Given the description of an element on the screen output the (x, y) to click on. 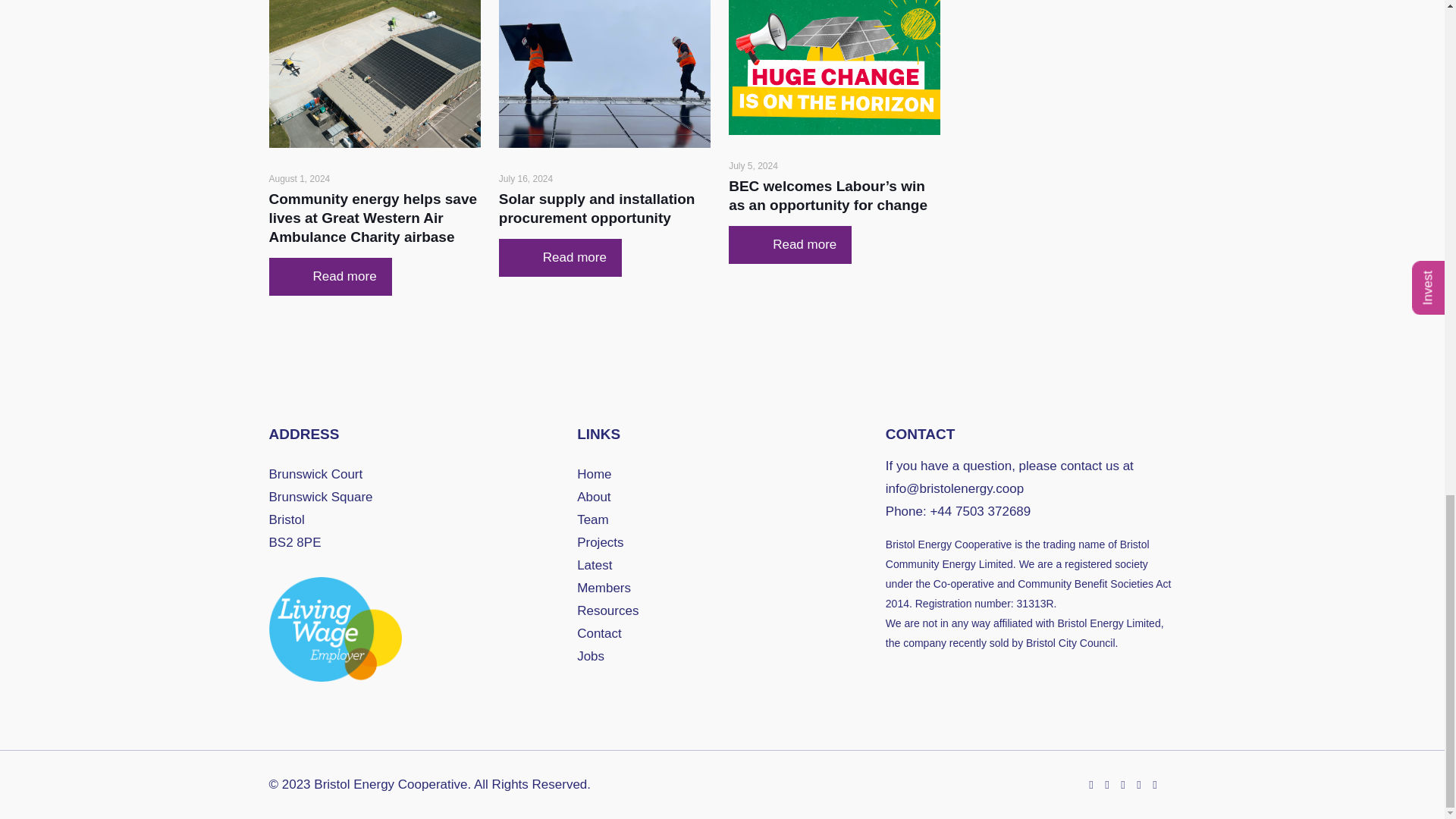
Read more (329, 276)
Solar supply and installation procurement opportunity (597, 208)
Read more (560, 257)
Read more (790, 243)
